Given the description of an element on the screen output the (x, y) to click on. 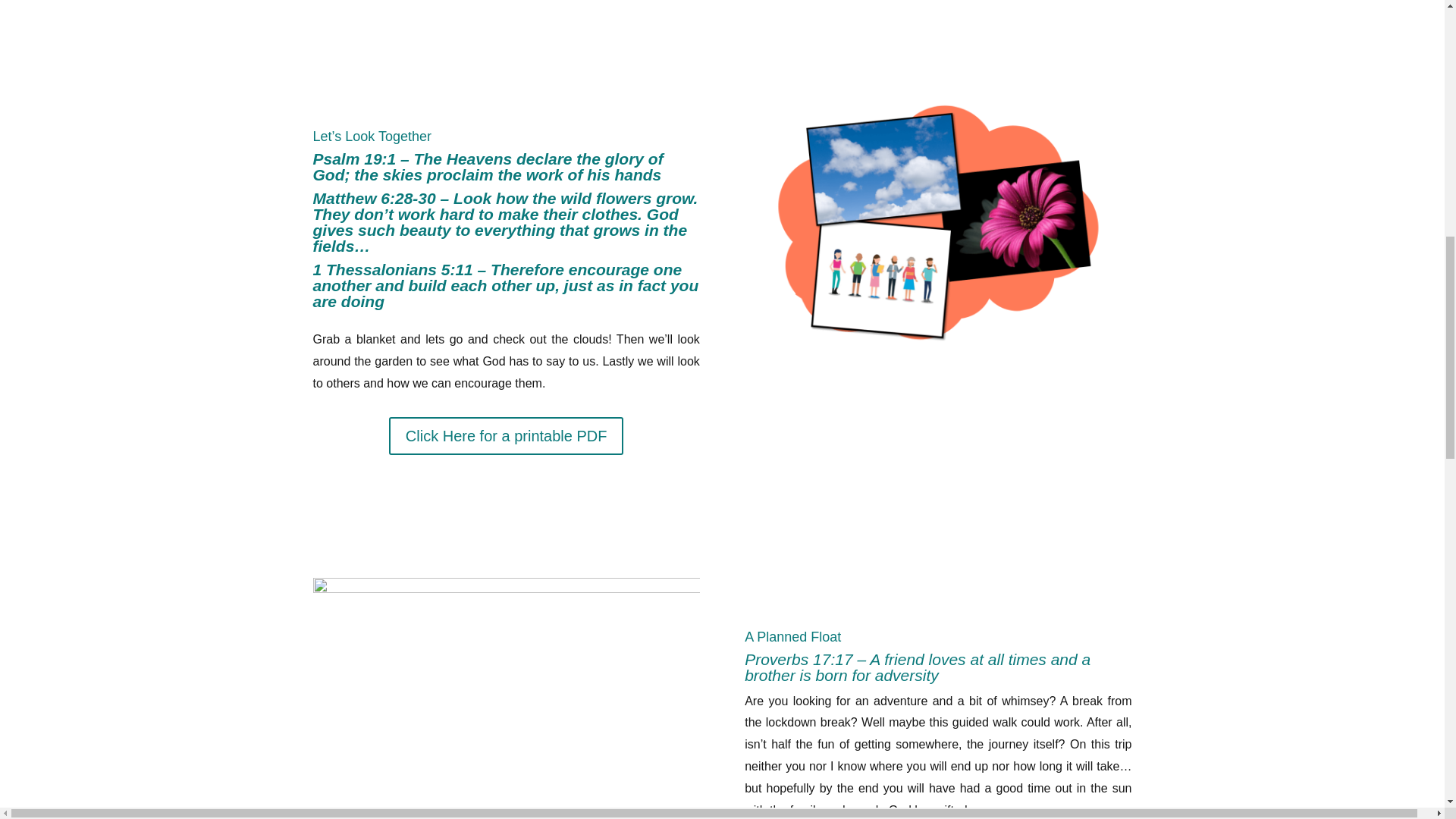
OWG 2 (505, 698)
OWG 1 (937, 223)
